Given the description of an element on the screen output the (x, y) to click on. 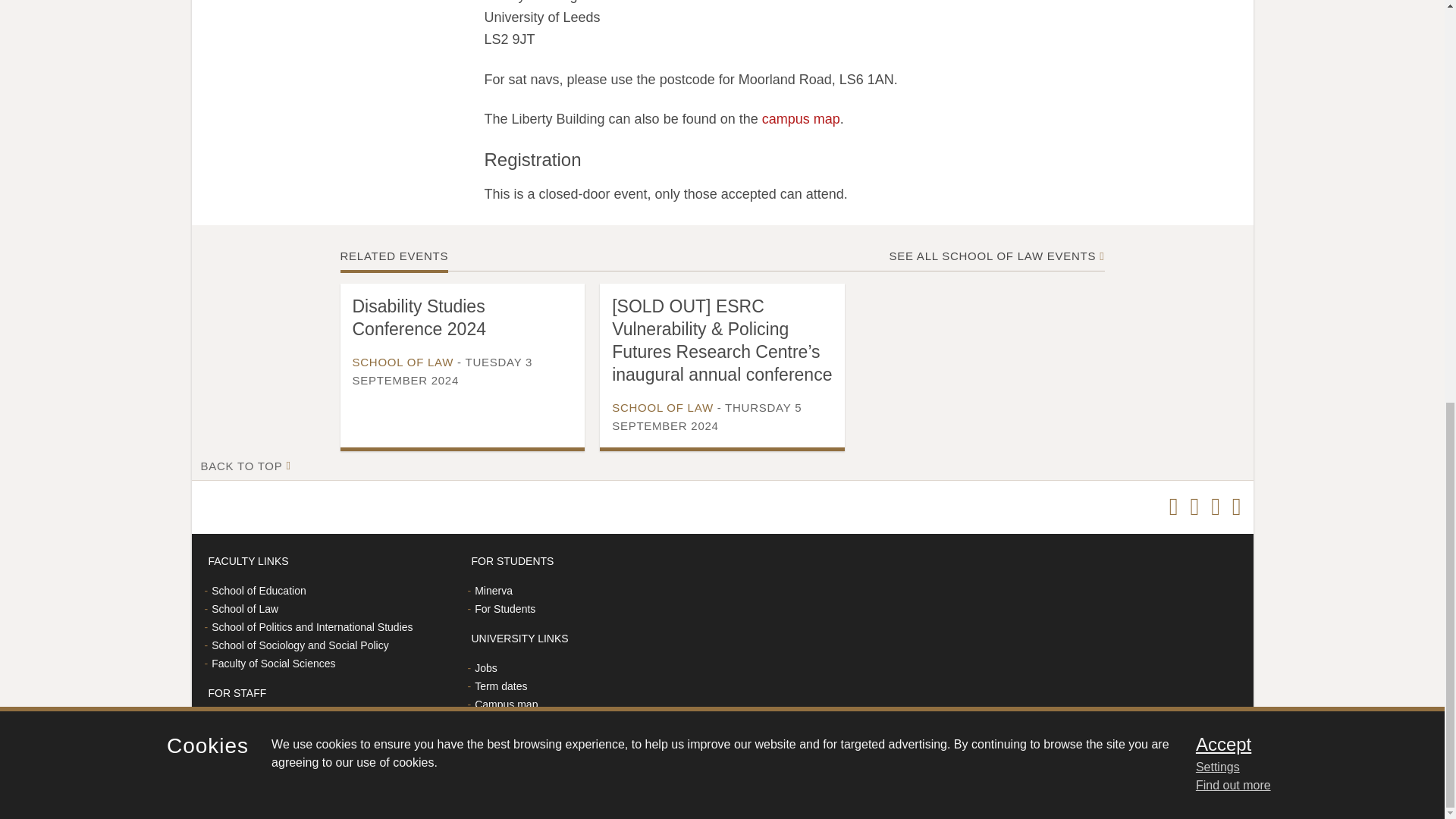
Go to Weibo page (1215, 507)
Go to Twitter page (1173, 507)
Go to Facebook page (1193, 507)
Go to Instagram page (1236, 507)
